Given the description of an element on the screen output the (x, y) to click on. 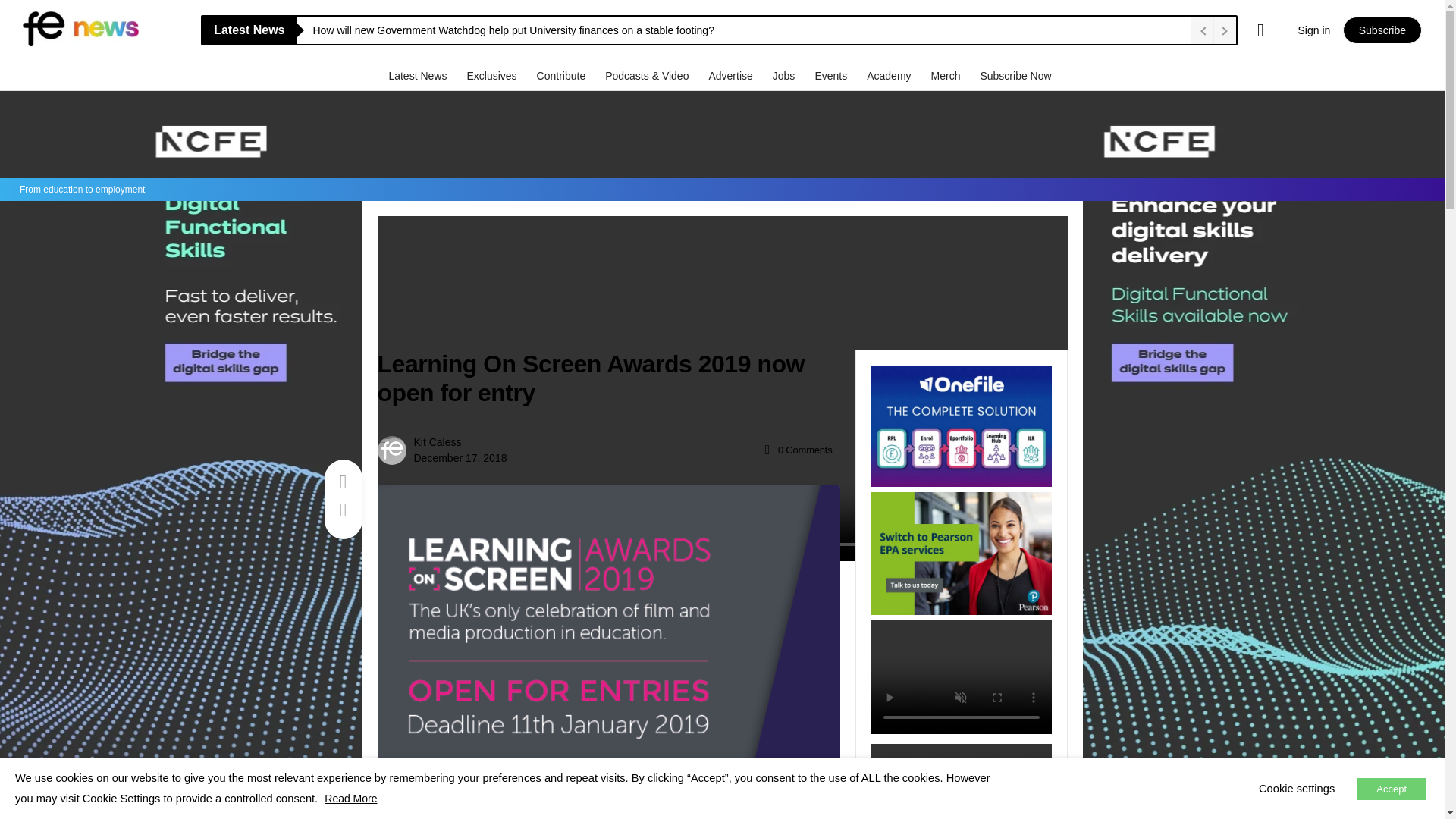
Subscribe (1382, 30)
Latest News (419, 75)
Sign in (1313, 30)
Exclusives (493, 75)
